Given the description of an element on the screen output the (x, y) to click on. 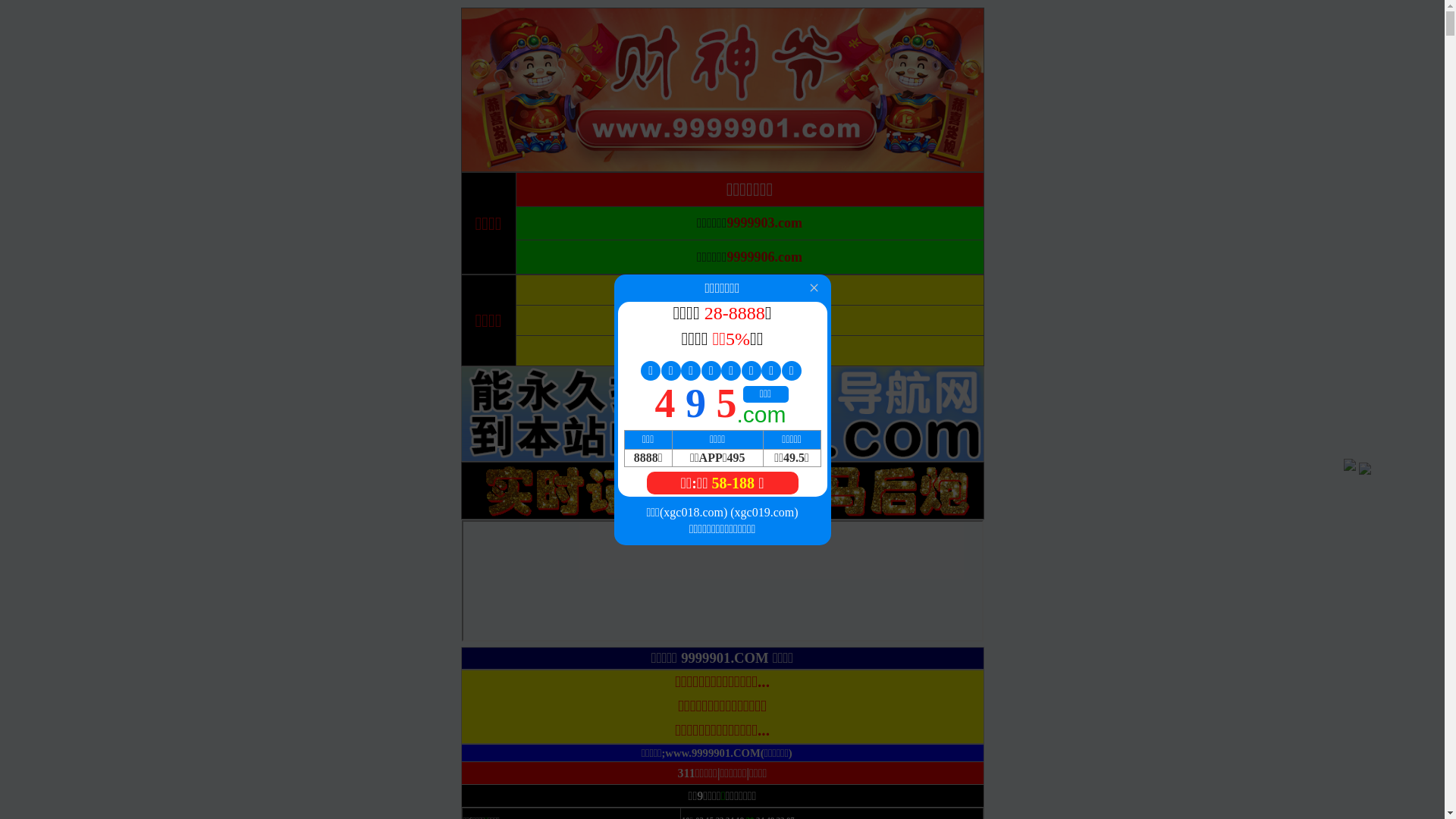
4 9 5 Element type: text (696, 402)
